Given the description of an element on the screen output the (x, y) to click on. 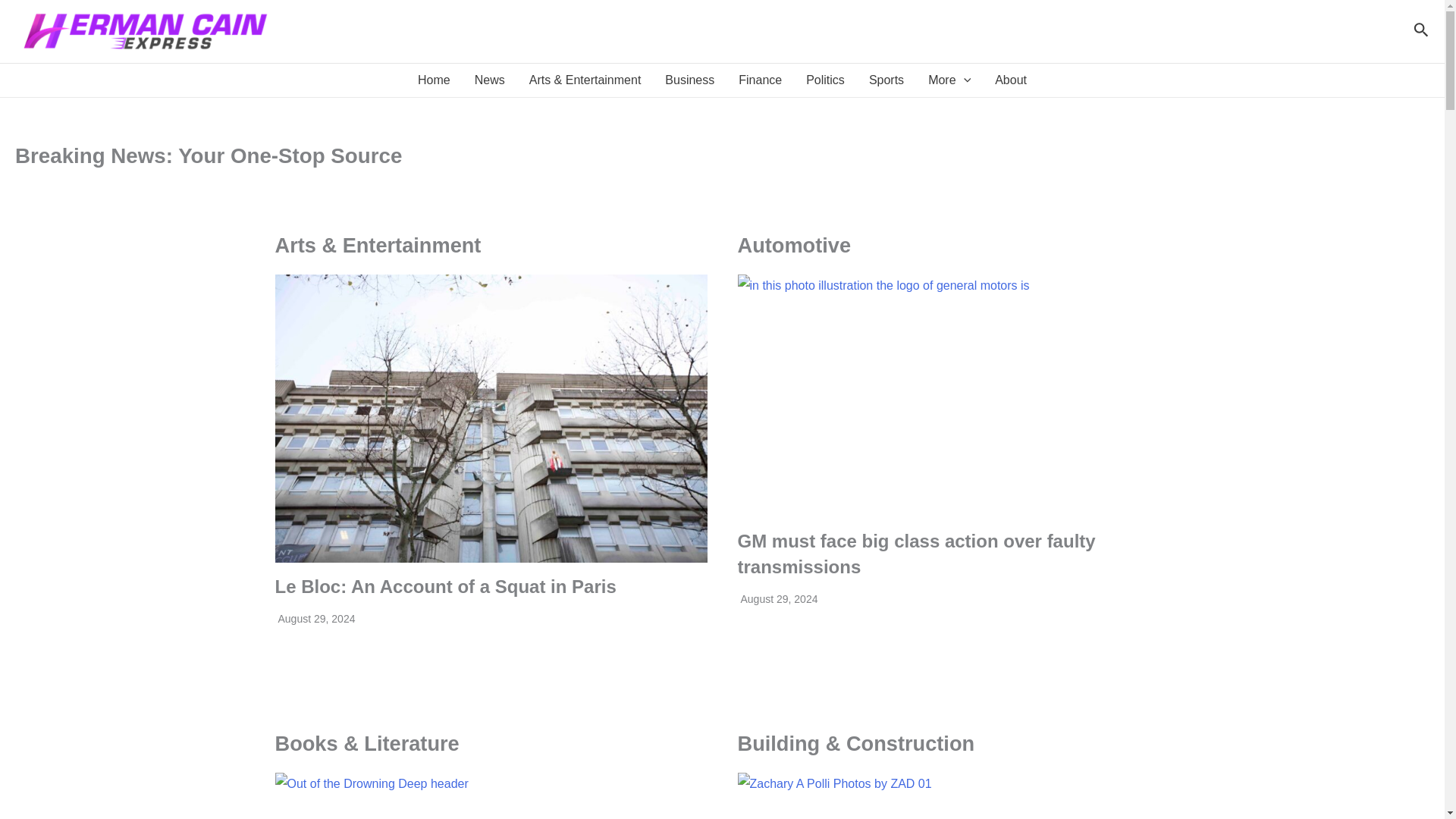
About (1010, 80)
News (489, 80)
Business (689, 80)
Finance (759, 80)
Politics (825, 80)
More (948, 80)
Sports (886, 80)
Home (434, 80)
